Given the description of an element on the screen output the (x, y) to click on. 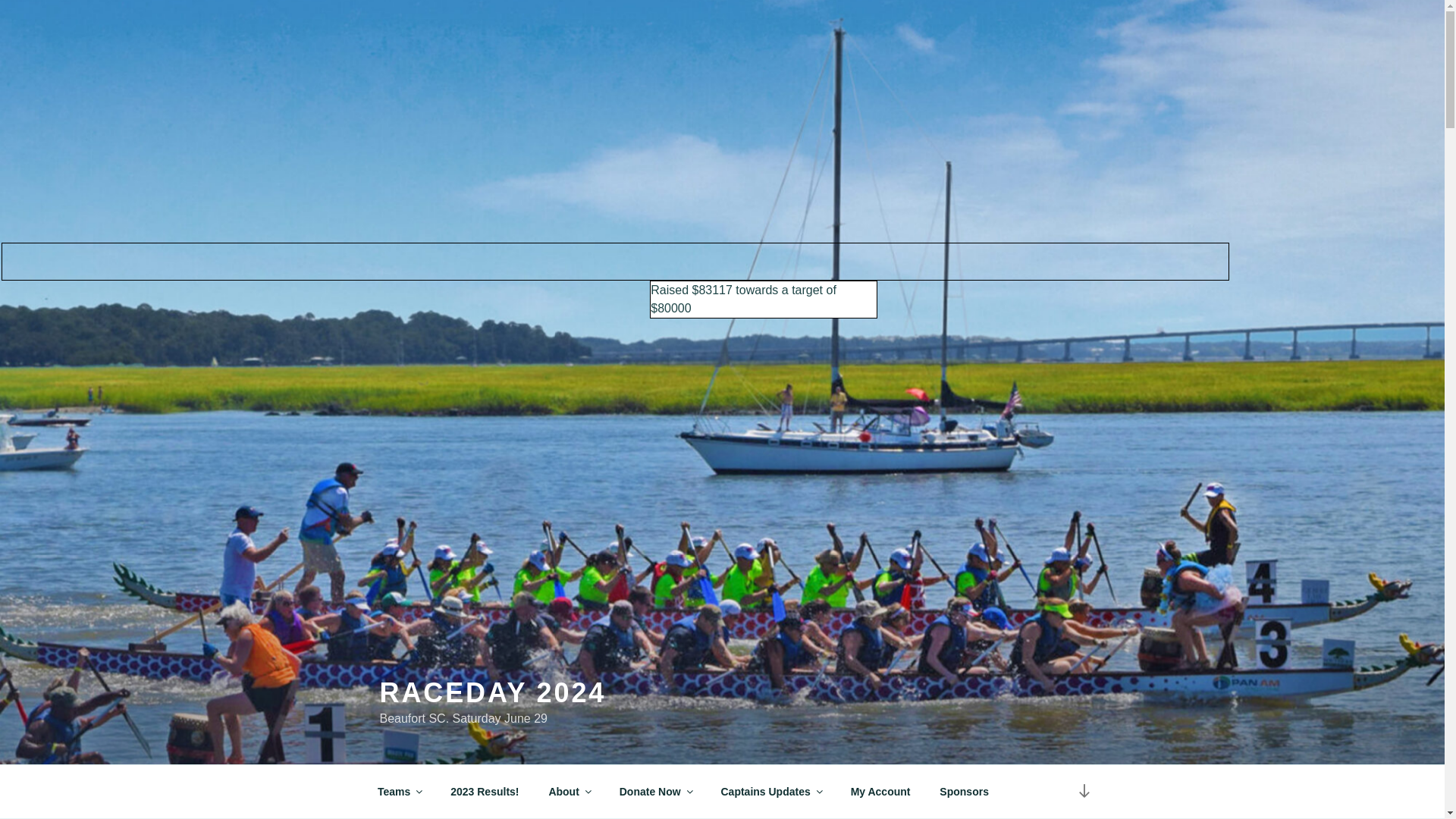
2023 Results! (485, 791)
My Account (880, 791)
Captains Updates (770, 791)
Scroll down to content (1082, 791)
RACEDAY 2024 (491, 692)
Donate Now (654, 791)
Scroll down to content (1082, 791)
Sponsors (964, 791)
Teams (398, 791)
About (568, 791)
